Given the description of an element on the screen output the (x, y) to click on. 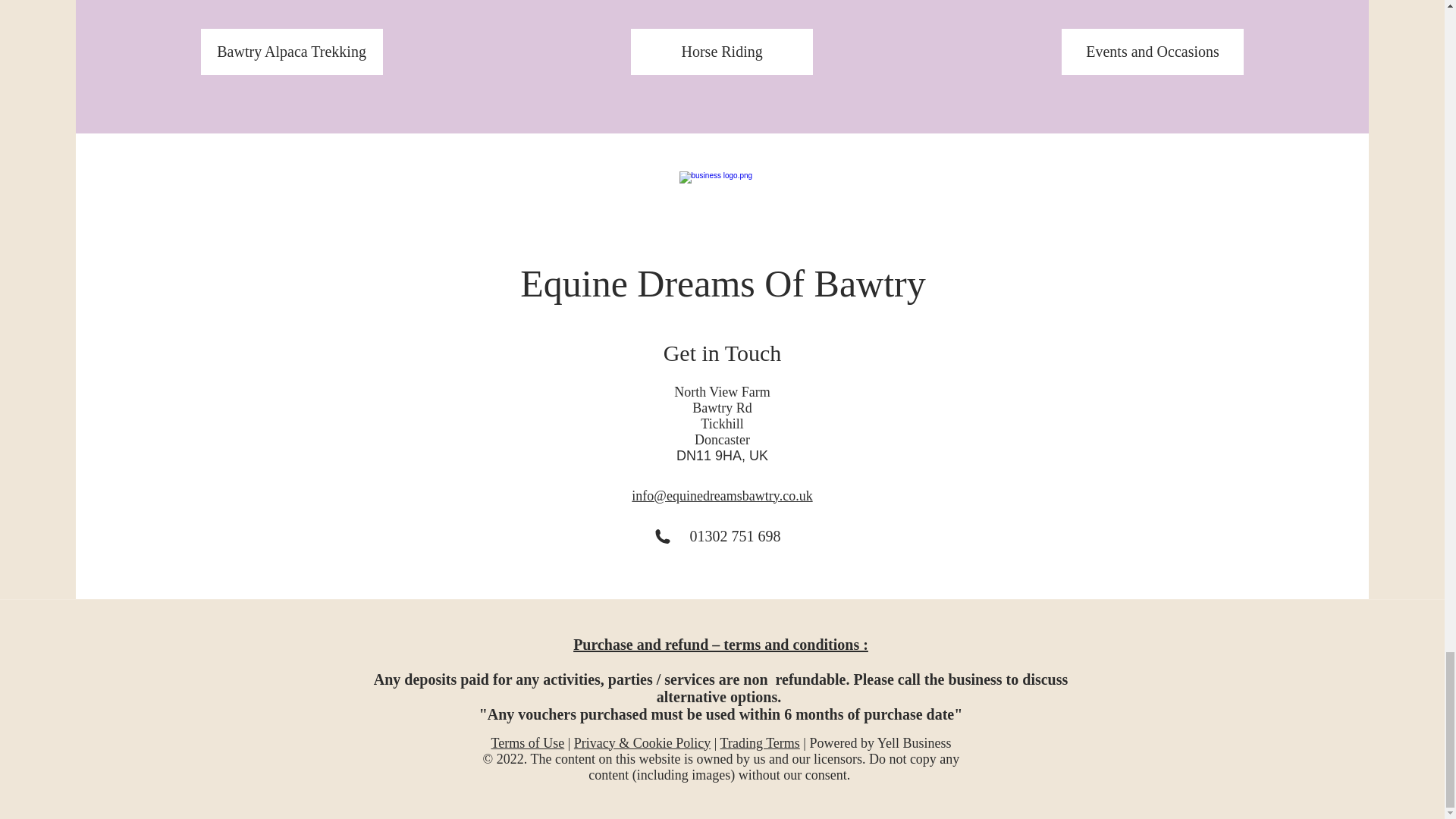
Events and Occasions (1152, 51)
Horse Riding (721, 51)
01302 751 698 (735, 535)
Equine Dreams Of Bawtry (722, 283)
Trading Terms (759, 742)
Terms of Use (528, 742)
Bawtry Alpaca Trekking (291, 51)
